Given the description of an element on the screen output the (x, y) to click on. 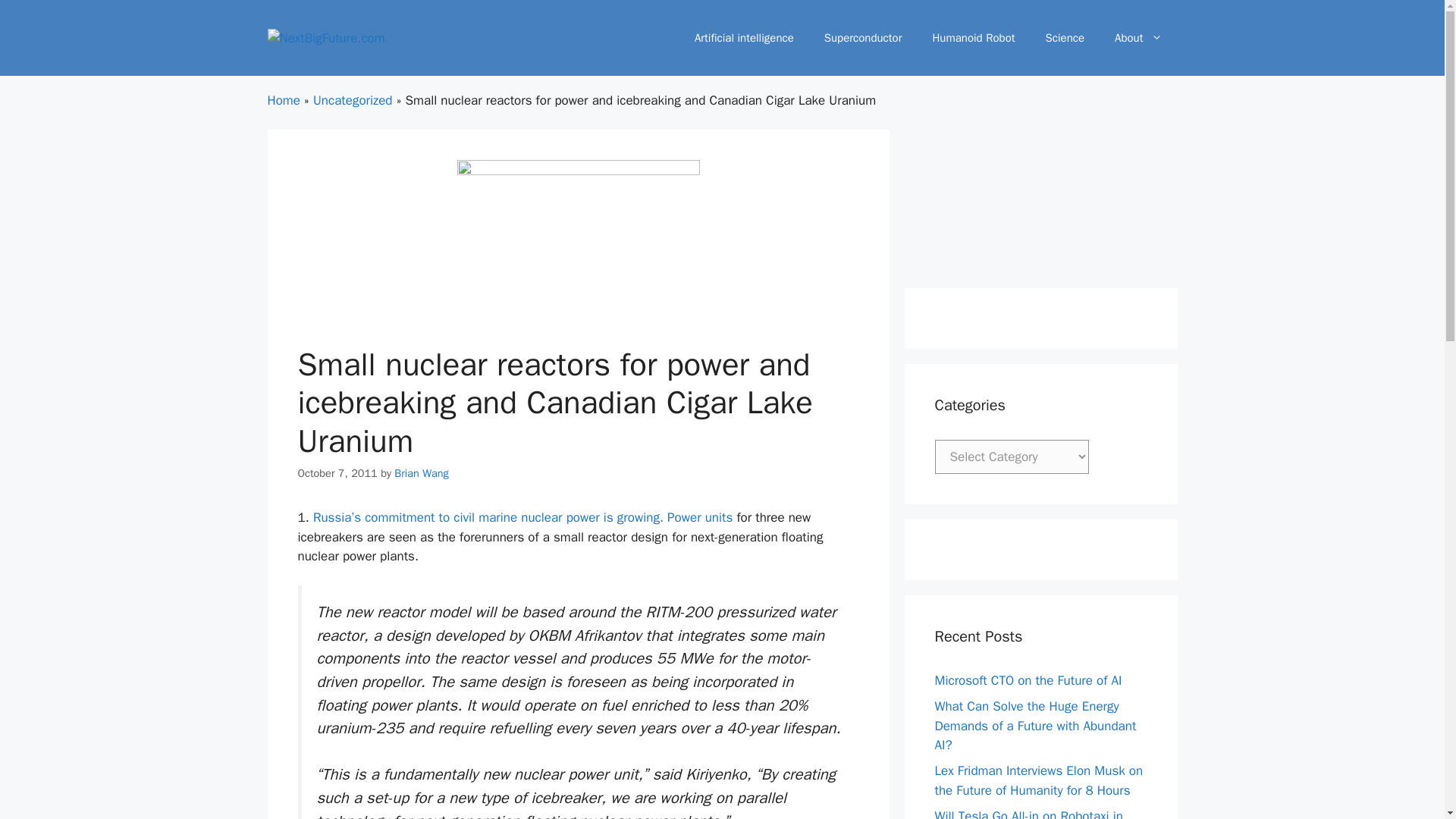
Humanoid Robot (973, 37)
Home (282, 100)
Microsoft CTO on the Future of AI (1027, 680)
Will Tesla Go All-in on Robotaxi in 2025? (1028, 813)
Science (1065, 37)
Uncategorized (353, 100)
Brian Wang (421, 472)
Artificial intelligence (744, 37)
Superconductor (863, 37)
About (1137, 37)
View all posts by Brian Wang (421, 472)
